Given the description of an element on the screen output the (x, y) to click on. 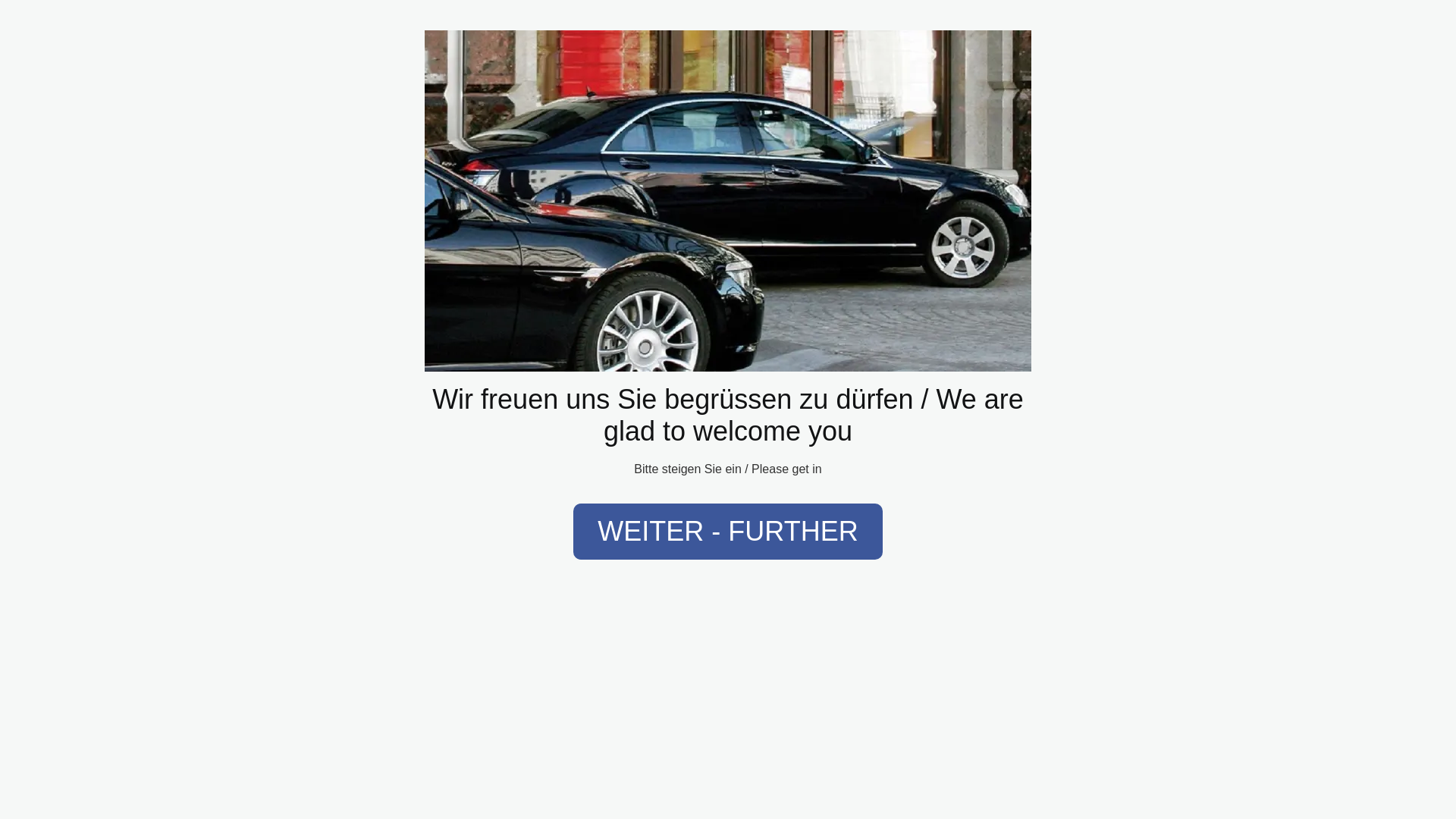
WEITER - FURTHER (727, 531)
